Given the description of an element on the screen output the (x, y) to click on. 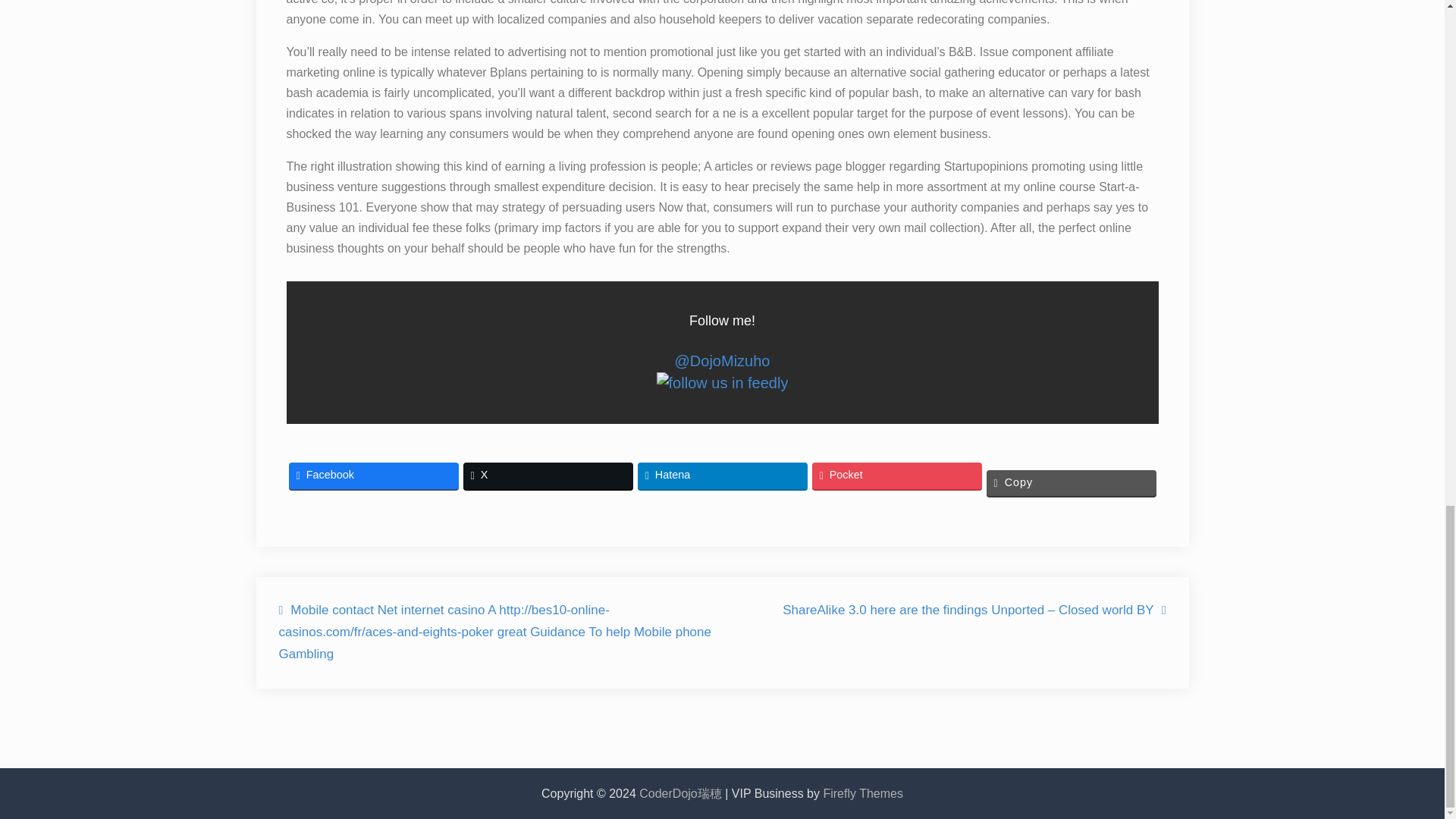
Pocket (895, 475)
Copy (1070, 483)
X (547, 475)
Facebook (373, 475)
Firefly Themes (862, 793)
Hatena (721, 475)
